Given the description of an element on the screen output the (x, y) to click on. 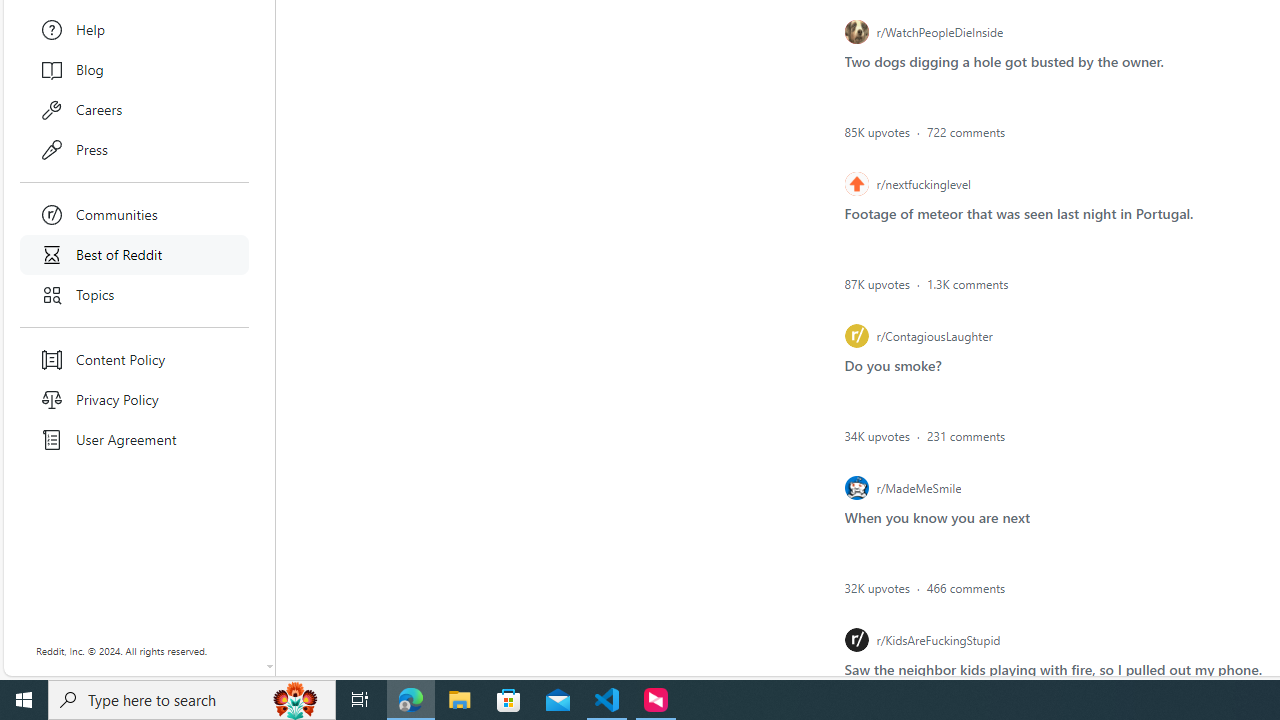
r/nextfuckinglevel icon (856, 183)
r/MadeMeSmile icon (856, 487)
Content Policy (134, 359)
r/WatchPeopleDieInside icon (856, 31)
User Agreement (134, 439)
